Given the description of an element on the screen output the (x, y) to click on. 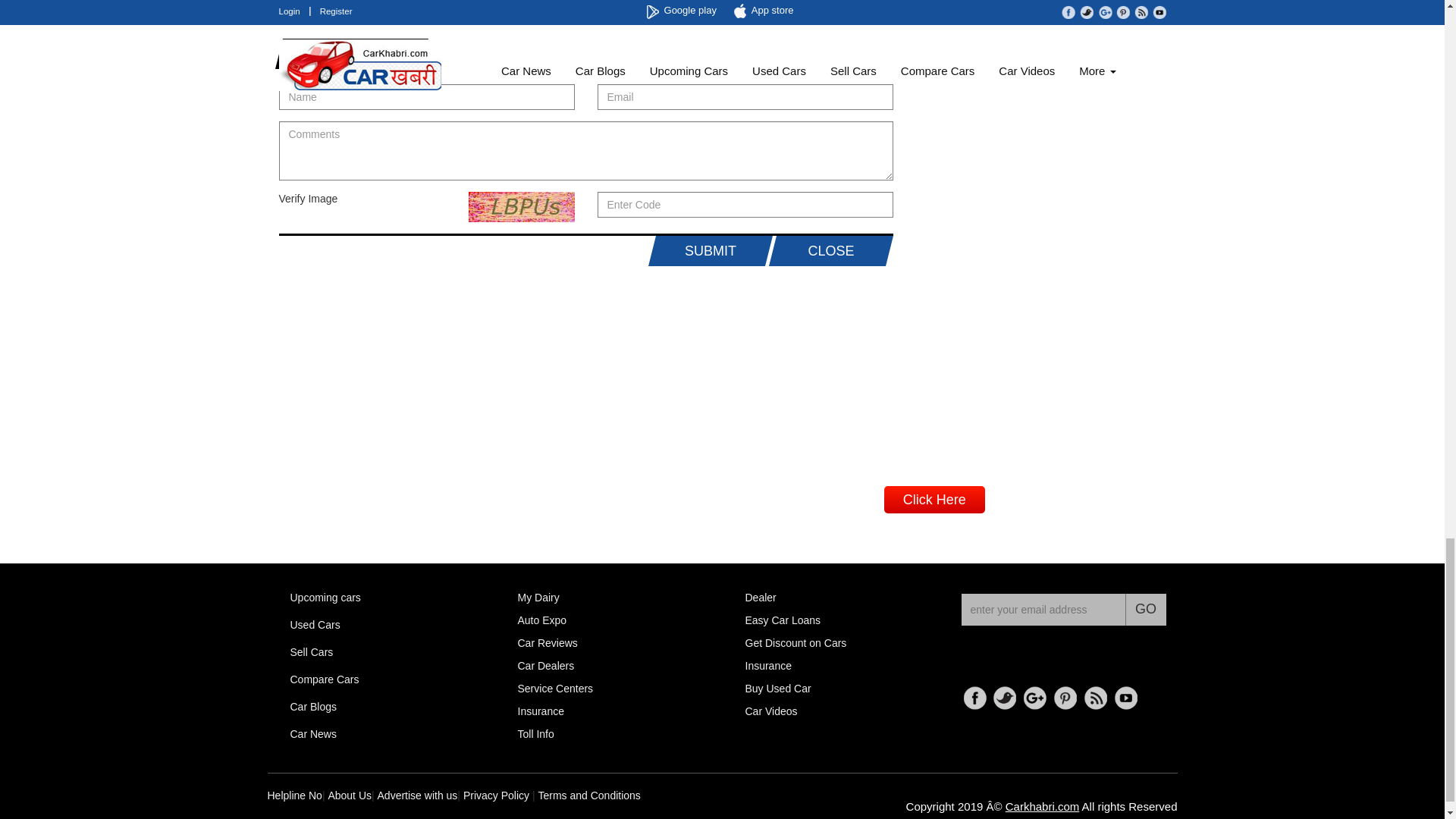
Dealer (760, 597)
Terms and Conditions (588, 795)
Advertise with us (417, 795)
Privacy Policy (496, 795)
Discount (794, 643)
About Us (349, 795)
Car Loans (782, 620)
